Given the description of an element on the screen output the (x, y) to click on. 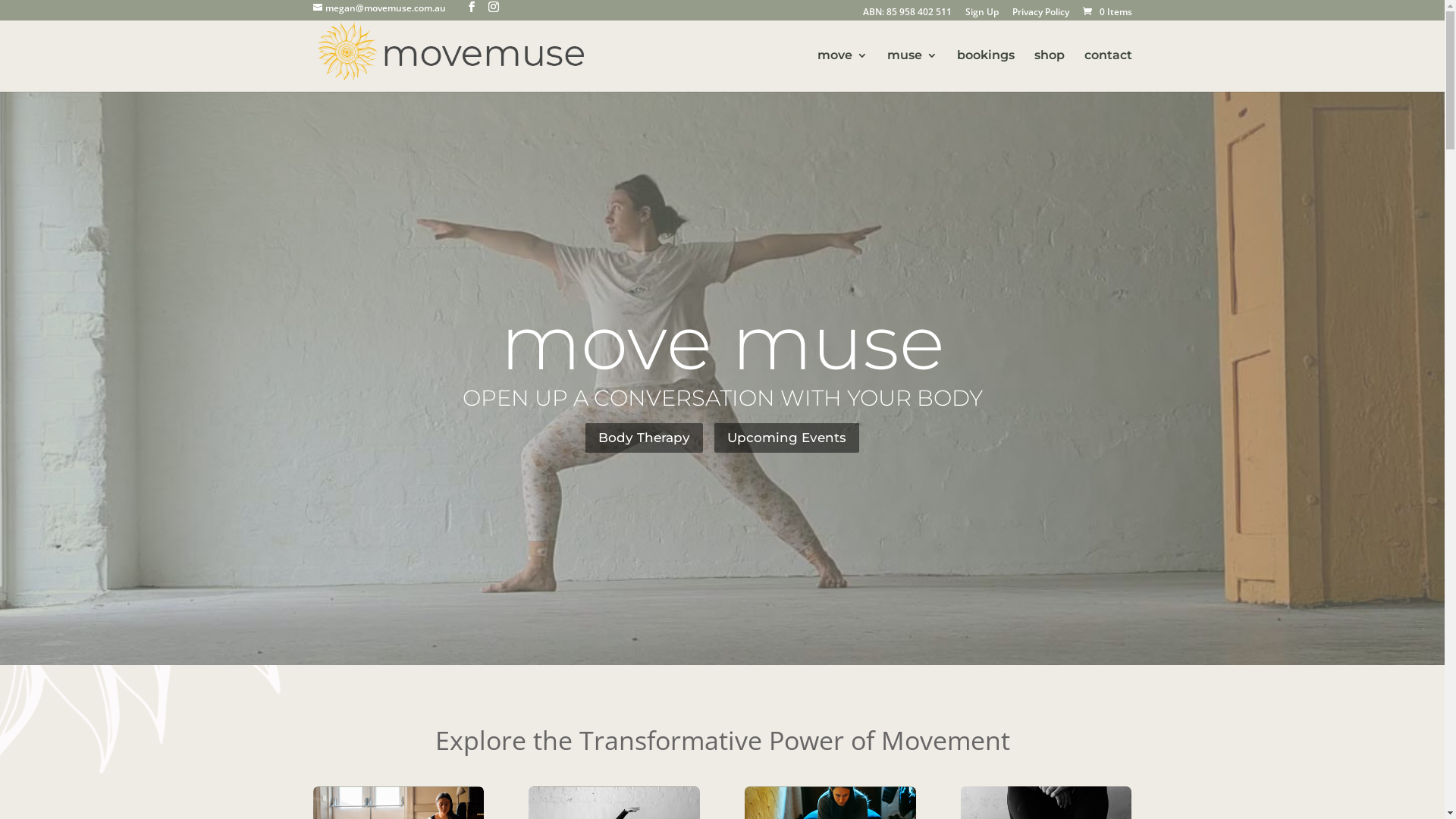
Privacy Policy Element type: text (1039, 11)
Sign Up Element type: text (980, 11)
Upcoming Events Element type: text (786, 437)
shop Element type: text (1049, 70)
Body Therapy Element type: text (643, 437)
ABN: 85 958 402 511 Element type: text (906, 11)
move Element type: text (842, 70)
megan@movemuse.com.au Element type: text (378, 7)
bookings Element type: text (985, 70)
muse Element type: text (912, 70)
0 Items Element type: text (1105, 11)
contact Element type: text (1108, 70)
